Given the description of an element on the screen output the (x, y) to click on. 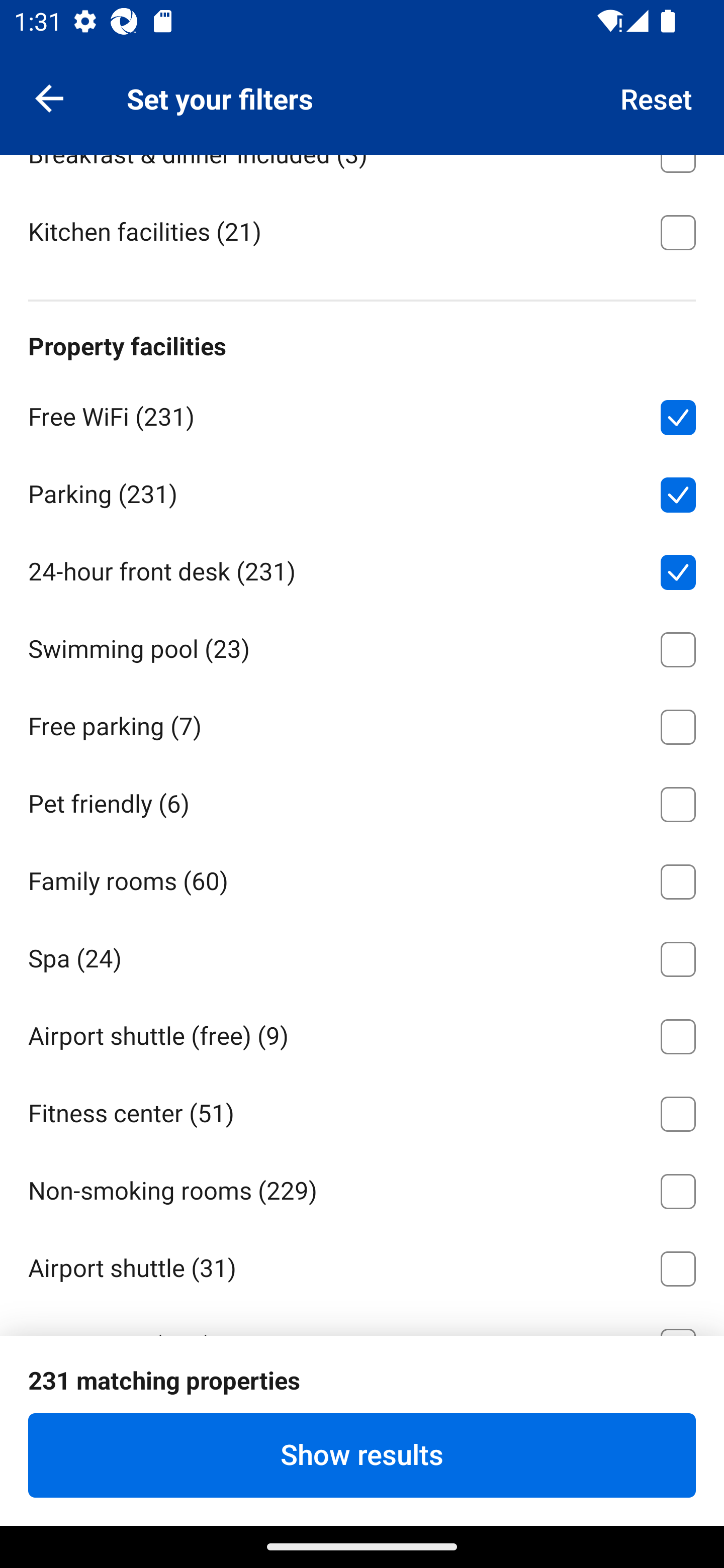
Breakfast Included ⁦(186) (361, 74)
Navigate up (49, 97)
Reset (656, 97)
Kitchen facilities ⁦(21) (361, 230)
Free WiFi ⁦(231) (361, 413)
Parking ⁦(231) (361, 491)
24-hour front desk ⁦(231) (361, 568)
Swimming pool ⁦(23) (361, 646)
Free parking ⁦(7) (361, 723)
Pet friendly ⁦(6) (361, 801)
Family rooms ⁦(60) (361, 878)
Spa ⁦(24) (361, 955)
Airport shuttle (free) ⁦(9) (361, 1033)
Fitness center ⁦(51) (361, 1110)
Non-smoking rooms ⁦(229) (361, 1187)
Airport shuttle ⁦(31) (361, 1265)
Show results (361, 1454)
